Given the description of an element on the screen output the (x, y) to click on. 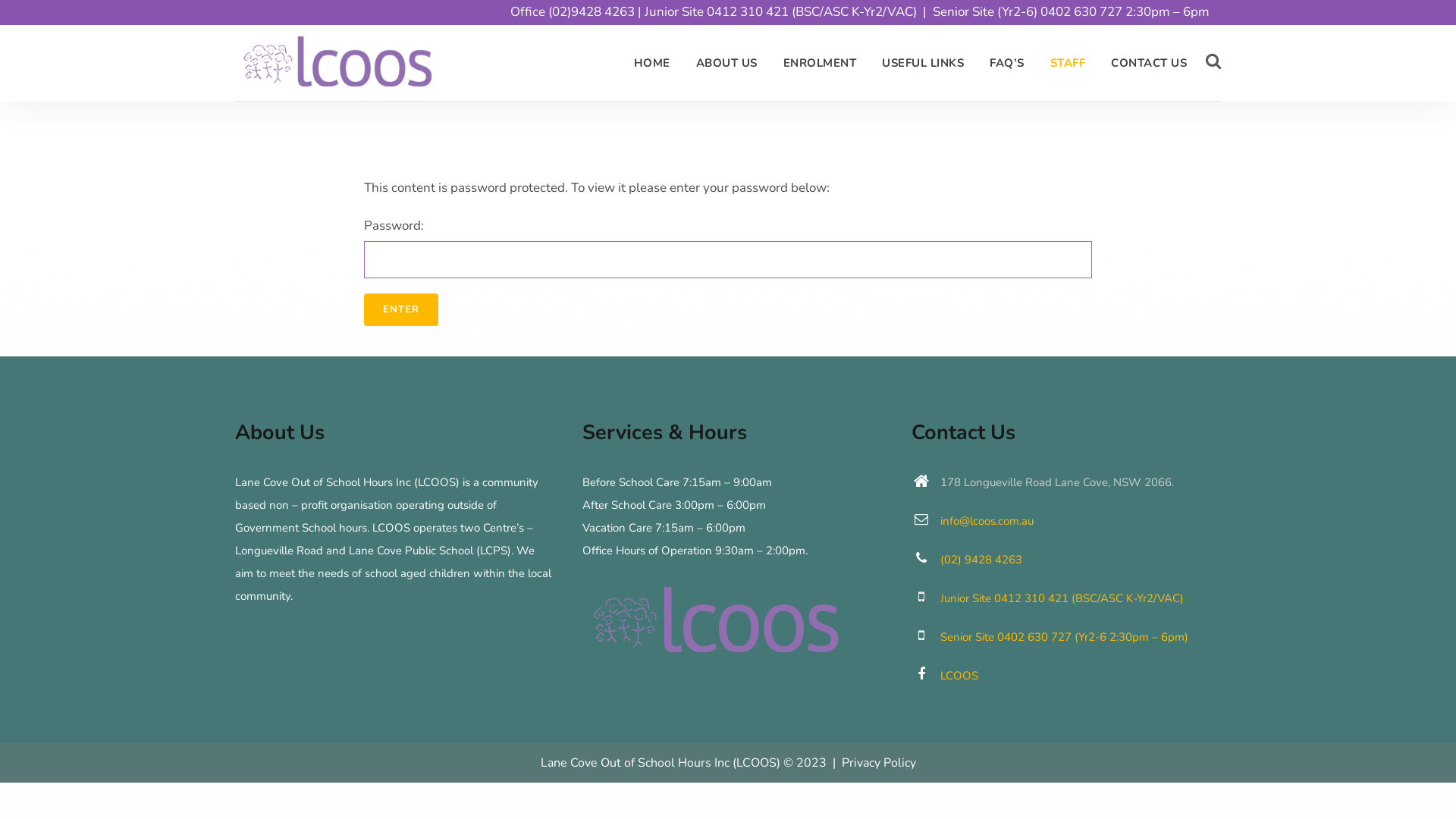
(02) 9428 4263 Element type: text (981, 559)
ENROLMENT Element type: text (819, 62)
(02)9428 4263 Element type: text (591, 11)
0412 310 421 Element type: text (747, 11)
info@lcoos.com.au Element type: text (986, 520)
Privacy Policy Element type: text (878, 761)
CONTACT US Element type: text (1148, 62)
ABOUT US Element type: text (725, 62)
HOME Element type: text (651, 62)
USEFUL LINKS Element type: text (922, 62)
LCOOS Element type: text (959, 675)
Junior Site 0412 310 421 (BSC/ASC K-Yr2/VAC) Element type: text (1061, 597)
0402 630 727 Element type: text (1081, 11)
STAFF Element type: text (1067, 62)
Enter Element type: text (401, 309)
